Given the description of an element on the screen output the (x, y) to click on. 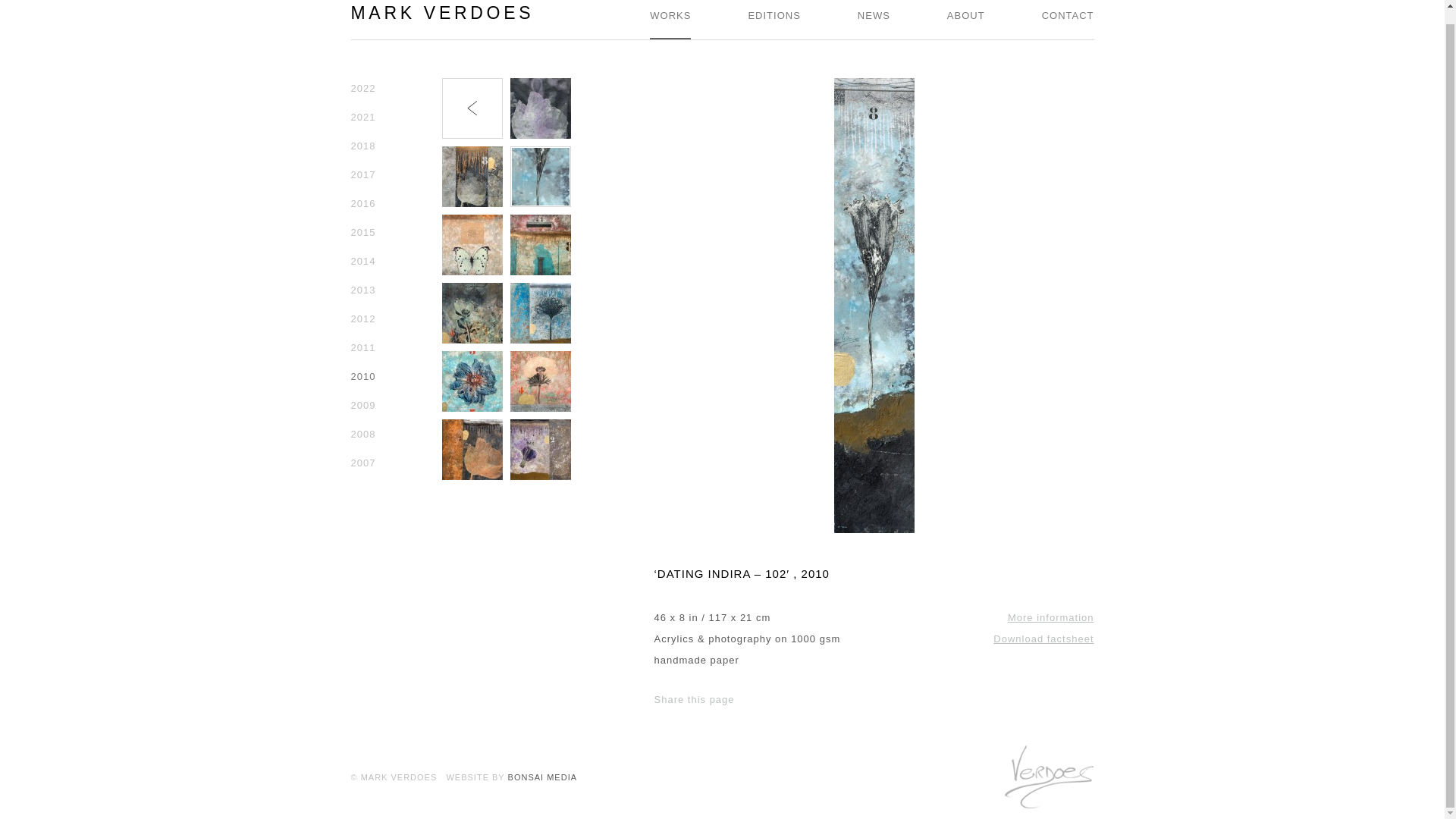
2008 (362, 433)
2015 (362, 232)
2007 (362, 462)
NEWS (873, 19)
2014 (362, 260)
CONTACT (1068, 19)
2017 (362, 174)
2011 (362, 347)
2022 (362, 88)
2021 (362, 116)
BONSAI MEDIA (542, 777)
WORKS (669, 19)
2010 (362, 376)
ABOUT (966, 19)
2018 (362, 145)
